Given the description of an element on the screen output the (x, y) to click on. 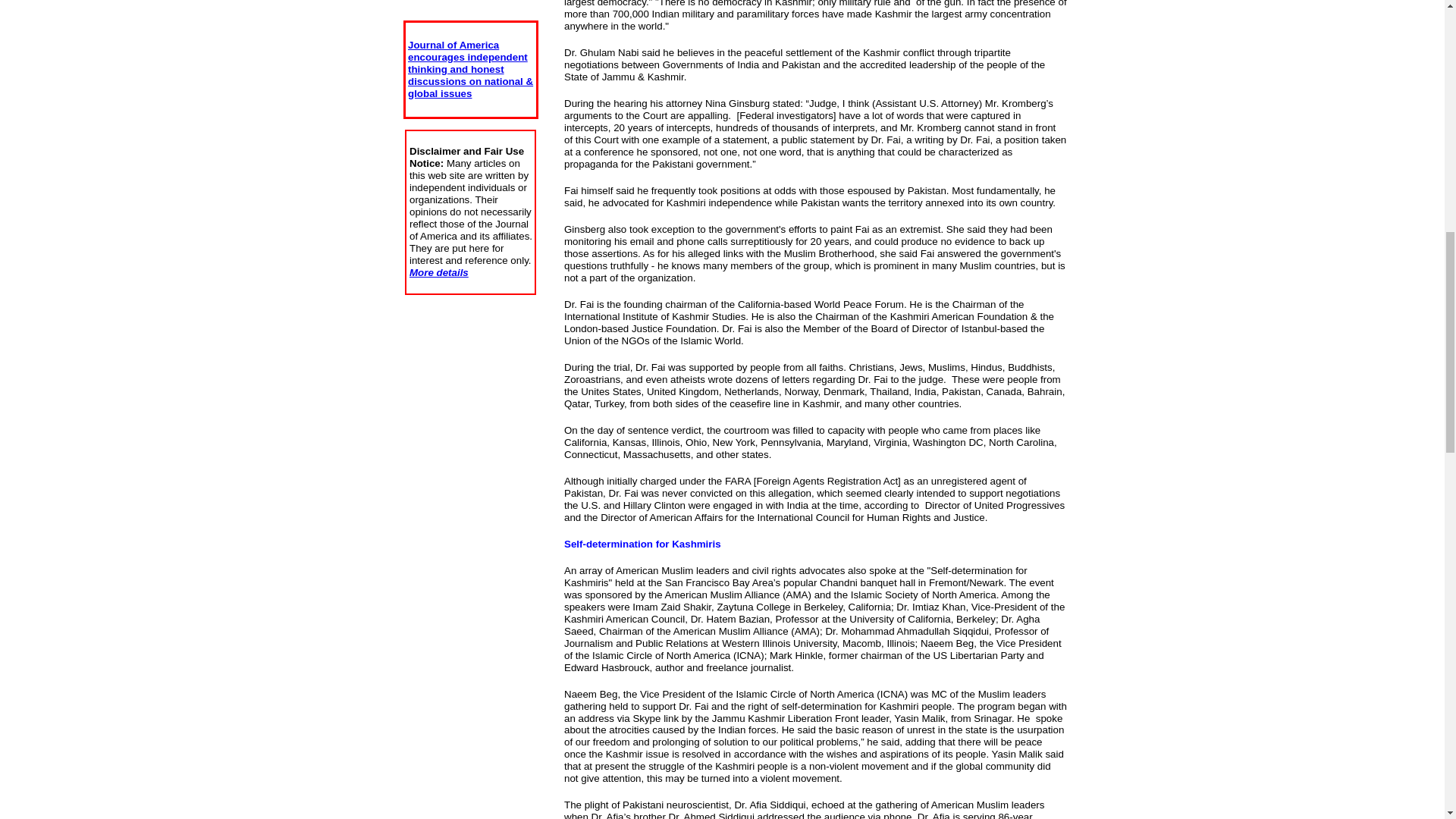
More details (438, 272)
